Given the description of an element on the screen output the (x, y) to click on. 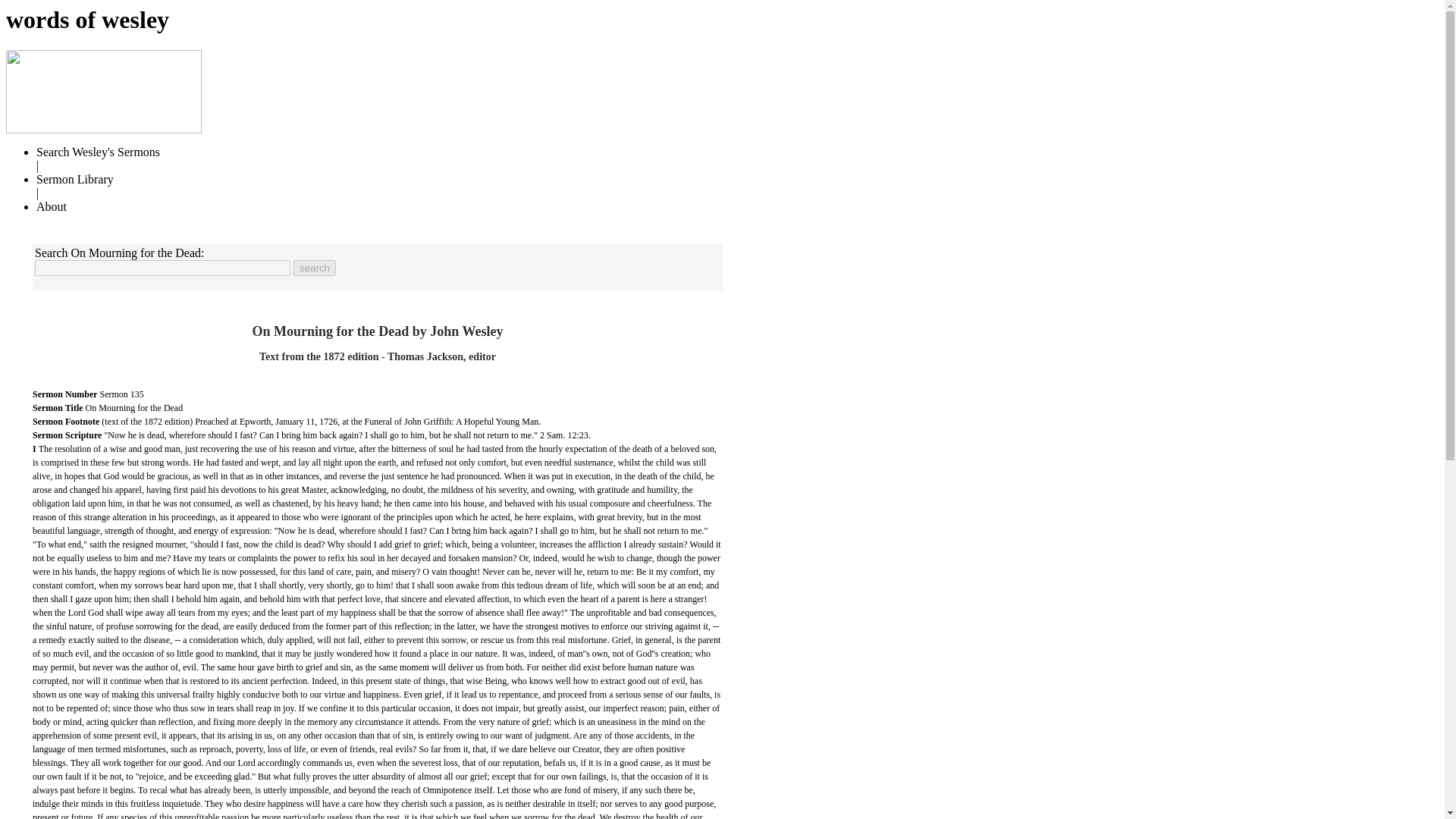
Search Wesley's Sermons (98, 151)
About (51, 205)
Sermon Library (74, 178)
search (315, 268)
words of wesley (86, 19)
search (315, 268)
